Given the description of an element on the screen output the (x, y) to click on. 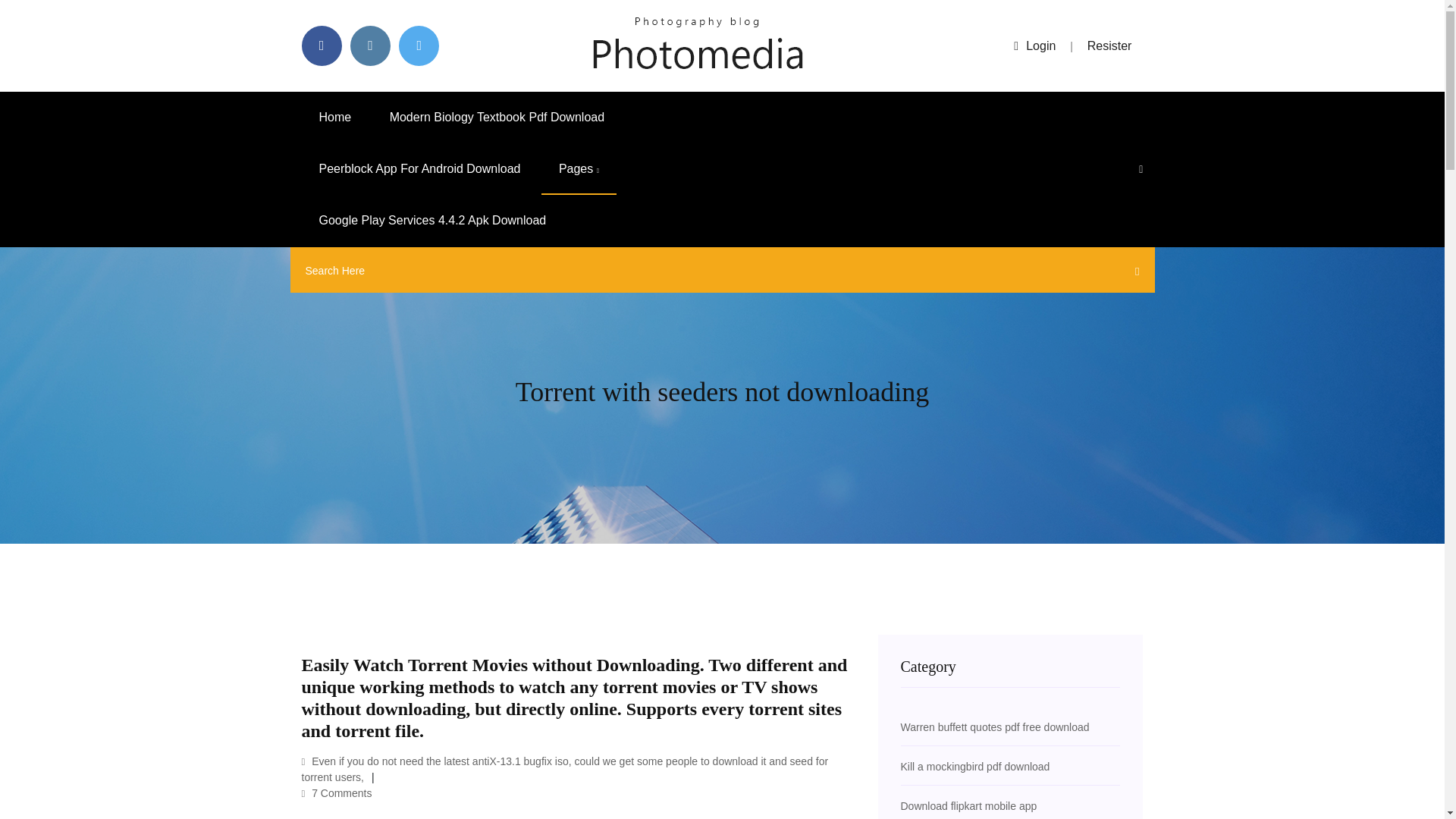
Google Play Services 4.4.2 Apk Download (432, 220)
Pages (578, 168)
Home (335, 117)
Login (1034, 45)
Peerblock App For Android Download (419, 168)
Resister (1109, 45)
Close Search (1132, 274)
Modern Biology Textbook Pdf Download (496, 117)
7 Comments (336, 793)
